Given the description of an element on the screen output the (x, y) to click on. 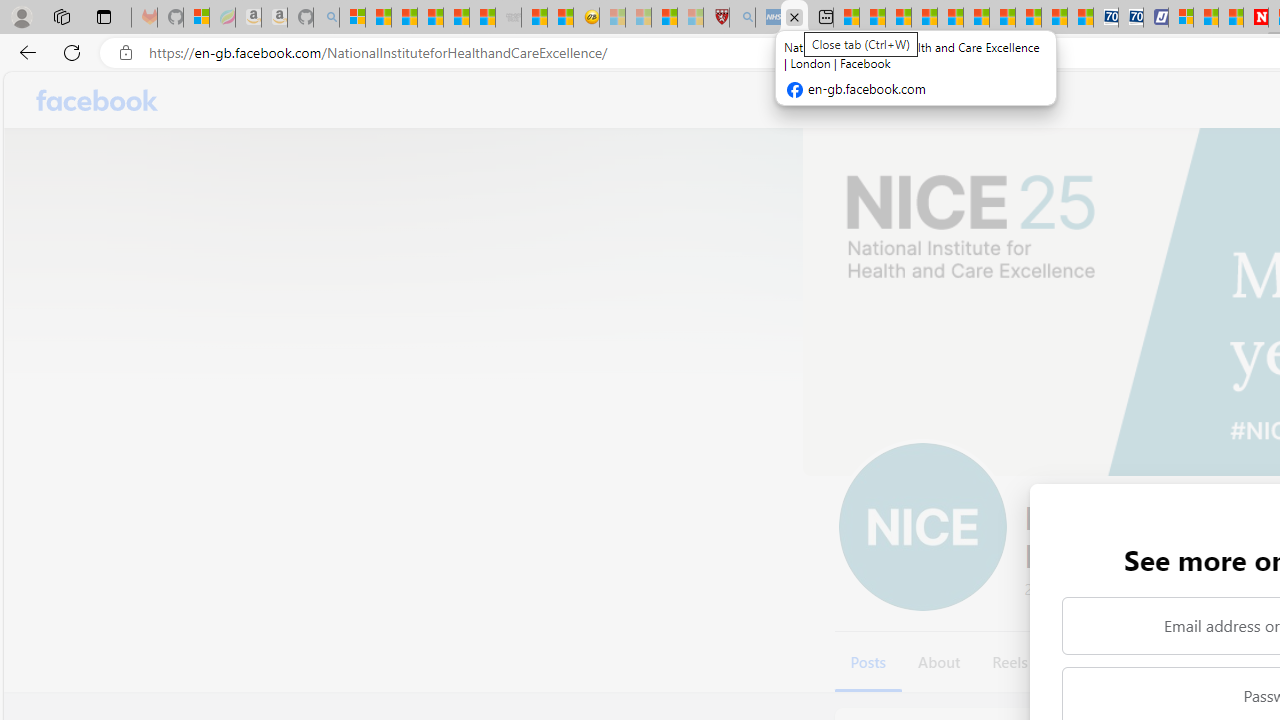
Facebook (97, 99)
New Report Confirms 2023 Was Record Hot | Watch (456, 17)
Facebook (97, 99)
